Given the description of an element on the screen output the (x, y) to click on. 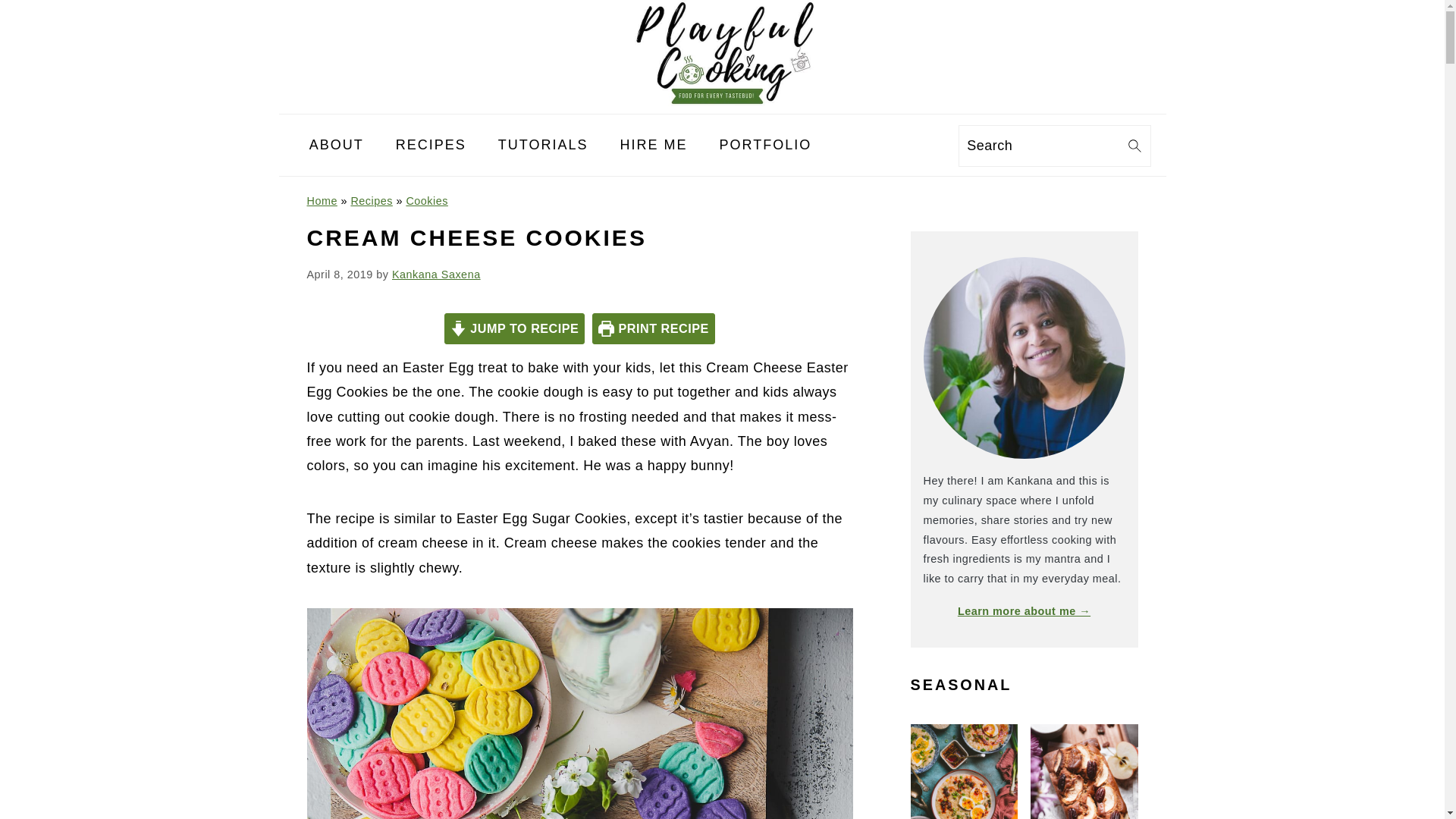
YouTube (914, 144)
PORTFOLIO (765, 144)
Playful Cooking (721, 101)
Pinterest (893, 144)
Facebook (850, 144)
YouTube (914, 144)
ABOUT (337, 144)
Playful Cooking (721, 53)
Instagram (871, 144)
Facebook (850, 144)
Pinterest (893, 144)
